Given the description of an element on the screen output the (x, y) to click on. 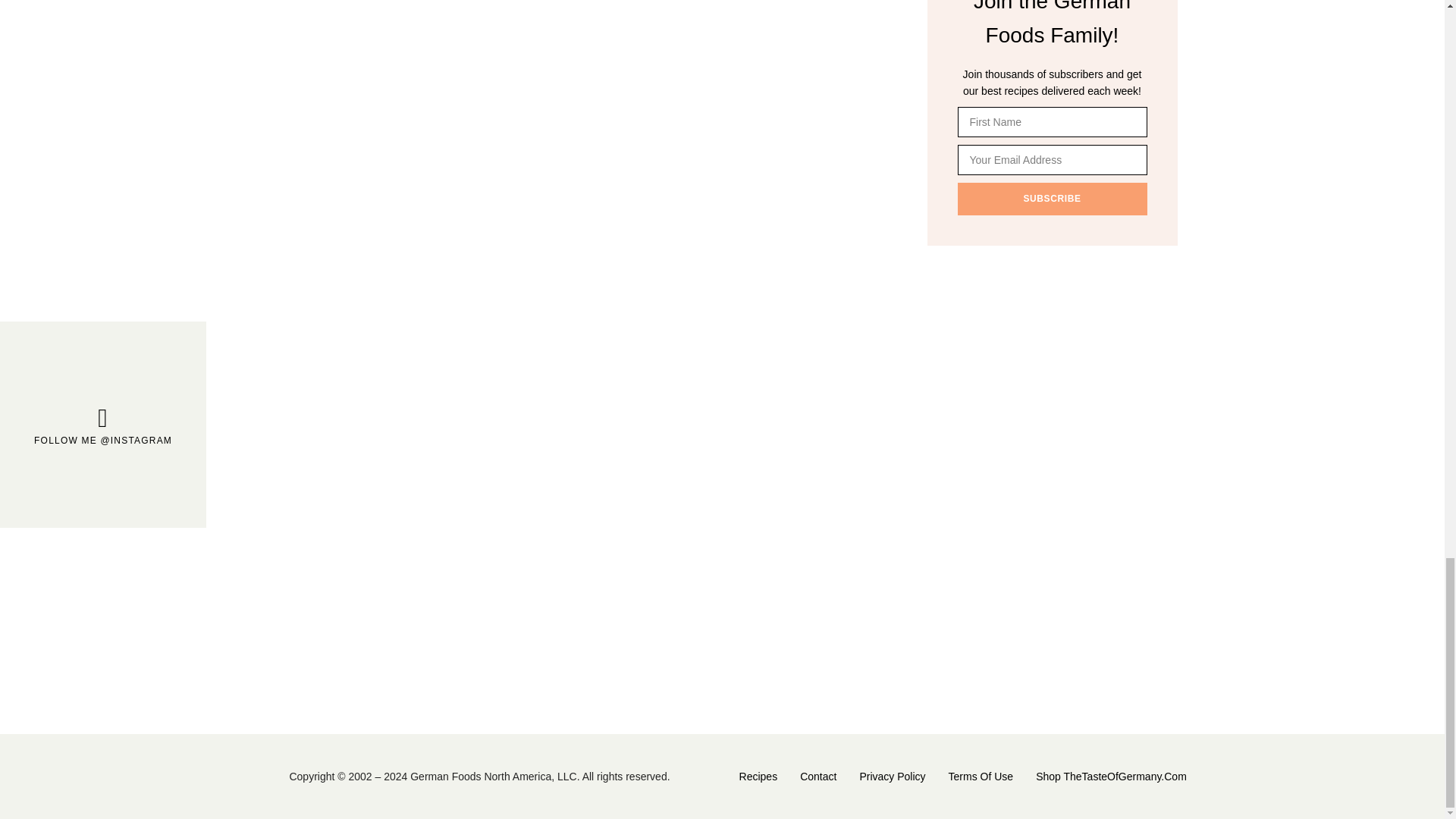
Subscribe (1051, 198)
